Given the description of an element on the screen output the (x, y) to click on. 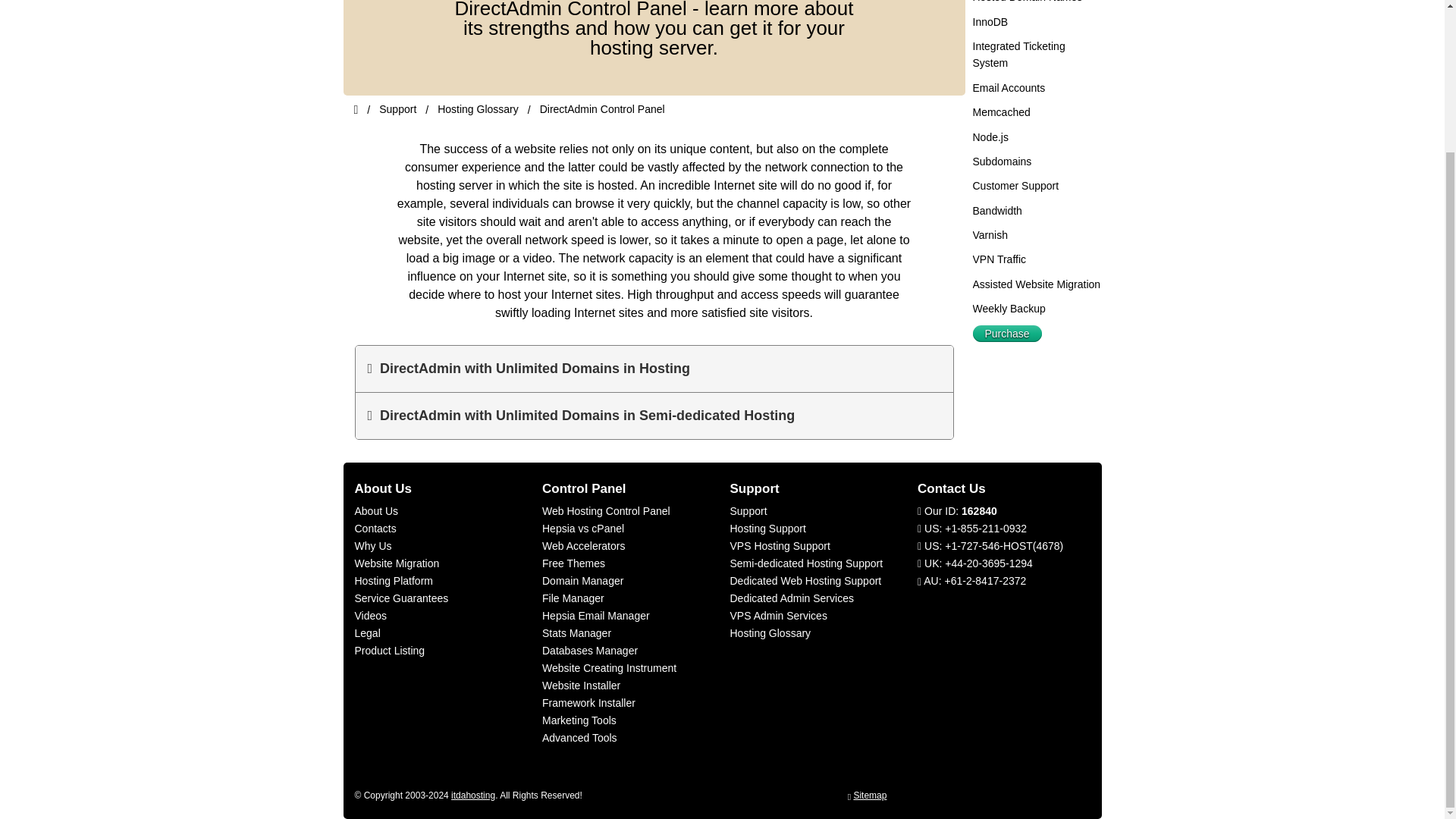
Hosted Domain Names (1026, 1)
Bandwidth (997, 210)
Email Accounts (1008, 87)
VPN Traffic (999, 259)
Node.js (989, 137)
Integrated Ticketing System (1018, 54)
Assisted Website Migration (1036, 284)
Weekly Backup (1008, 308)
Purchase (1006, 333)
Varnish (989, 234)
